Given the description of an element on the screen output the (x, y) to click on. 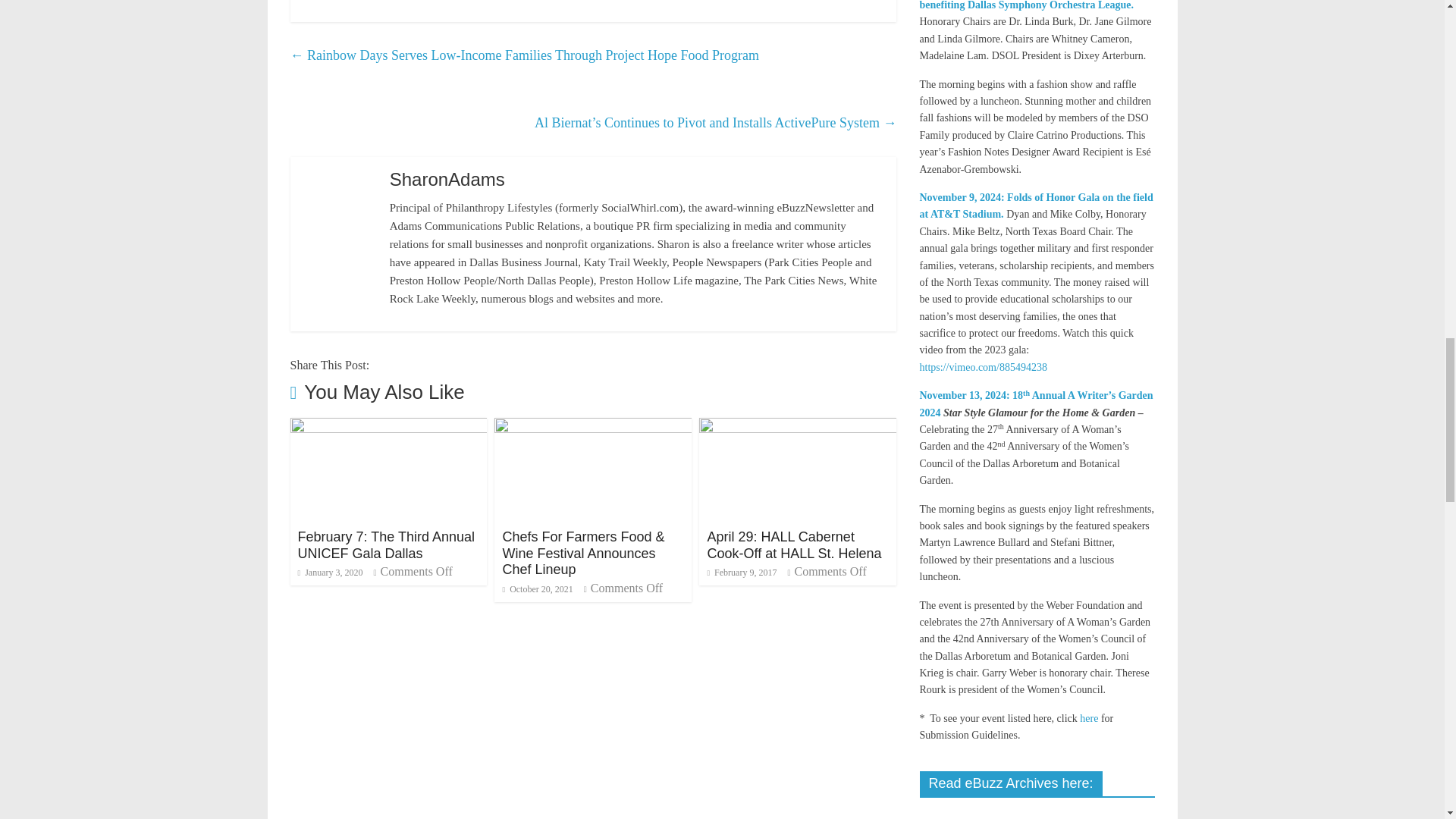
February 7: The Third Annual UNICEF Gala Dallas (387, 427)
February 7: The Third Annual UNICEF Gala Dallas (385, 545)
April 29: HALL Cabernet Cook-Off at HALL St. Helena (797, 427)
5:10 pm (537, 588)
12:56 pm (329, 572)
